Given the description of an element on the screen output the (x, y) to click on. 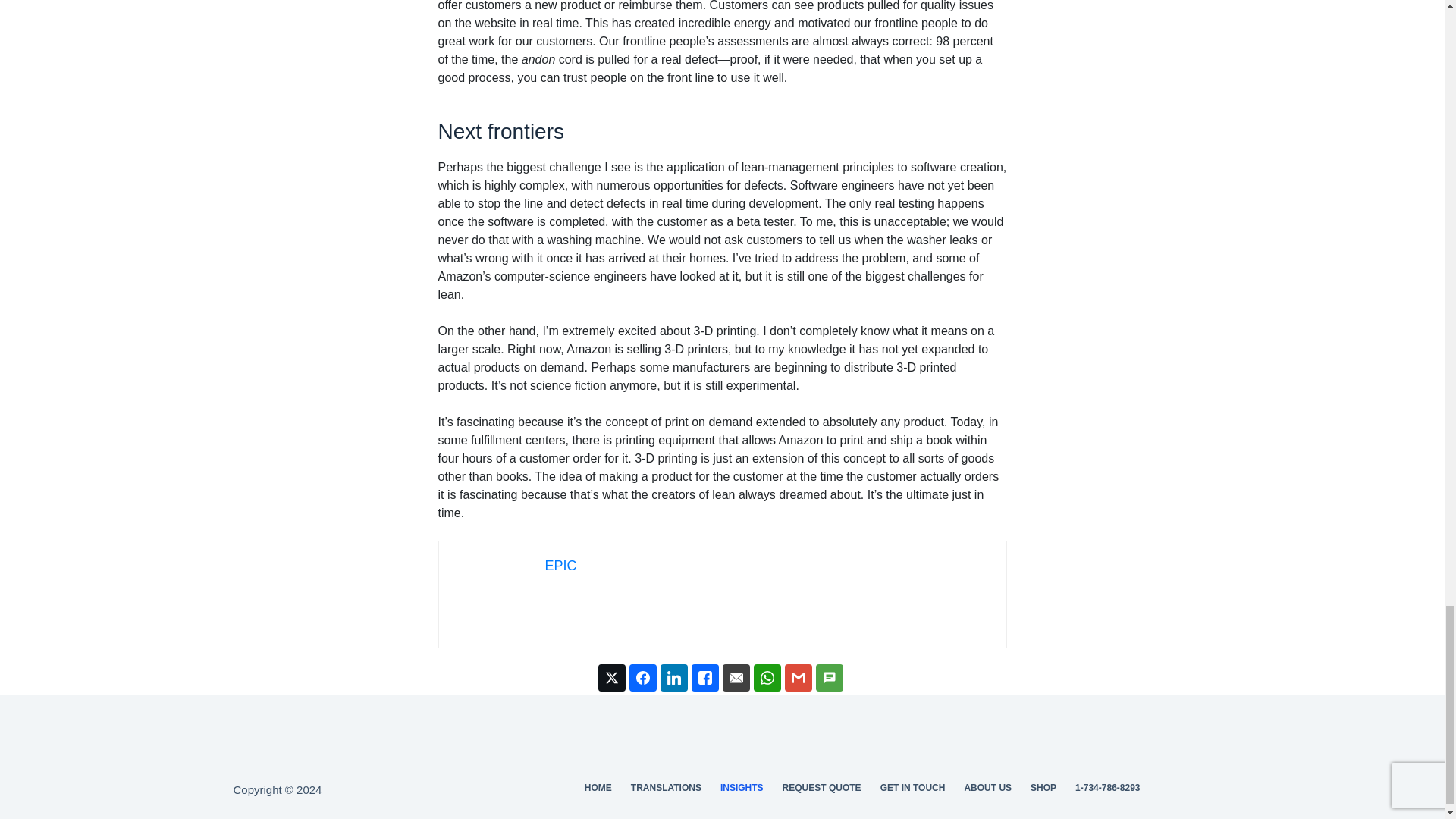
Share on Facebook (642, 677)
Share on Gmail (797, 677)
Share on Twitter (610, 677)
Share on Like (705, 677)
Share on LinkedIn (673, 677)
Share on Email (735, 677)
Share on WhatsApp (767, 677)
Share on SMS (829, 677)
